Given the description of an element on the screen output the (x, y) to click on. 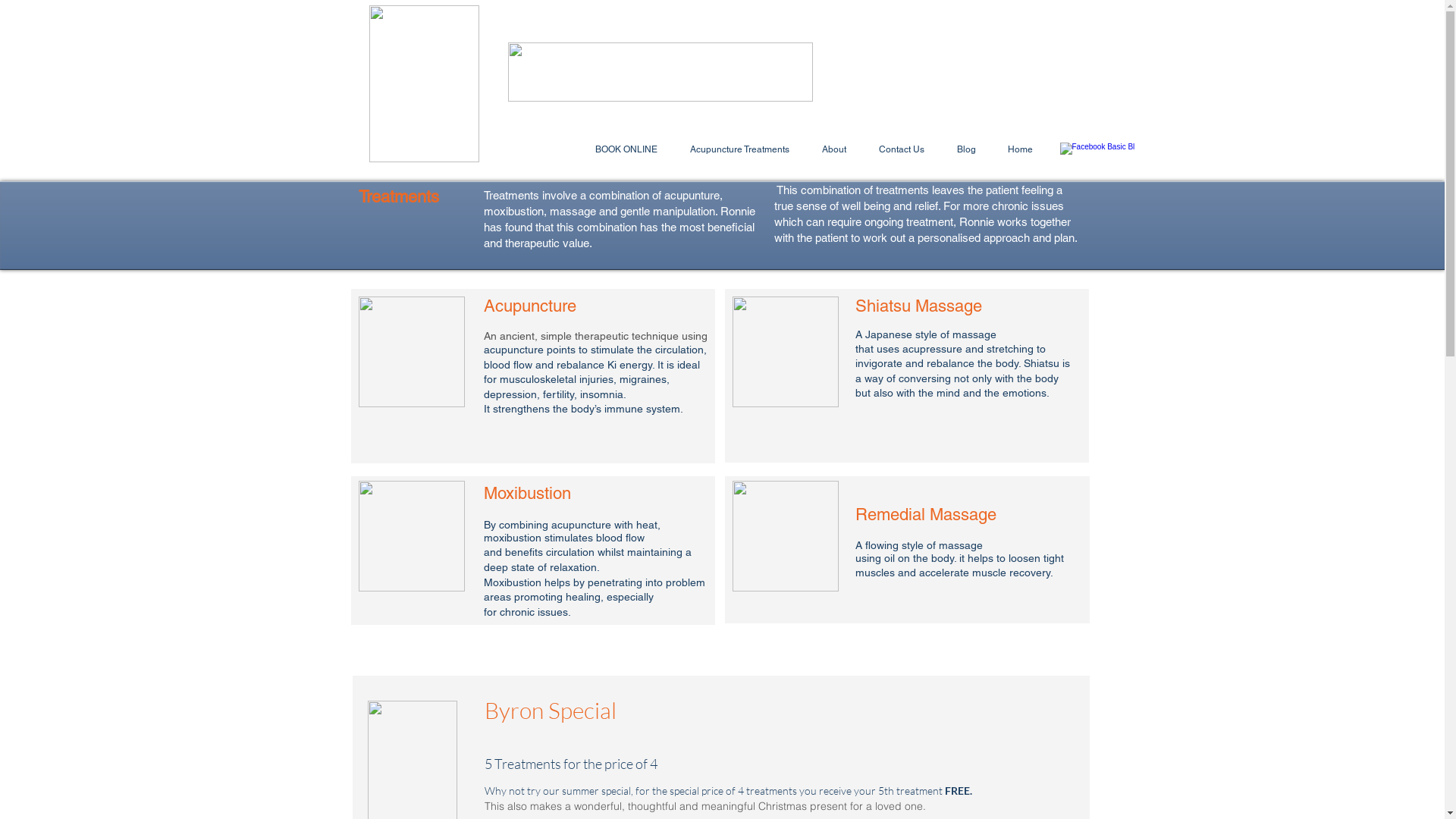
Blog Element type: text (965, 149)
BOOK ONLINE Element type: text (626, 149)
Home Element type: text (1019, 149)
Natural Herbs Element type: hover (785, 535)
ki_symbol_indigo_smll.png Element type: hover (423, 83)
About Element type: text (833, 149)
Acupuncture Treatments Element type: text (739, 149)
Chinese Medicine Herbs Element type: hover (410, 535)
Acupuncture Element type: hover (410, 351)
Pressure point massage 2 Element type: hover (785, 351)
Contact Us Element type: text (901, 149)
